Given the description of an element on the screen output the (x, y) to click on. 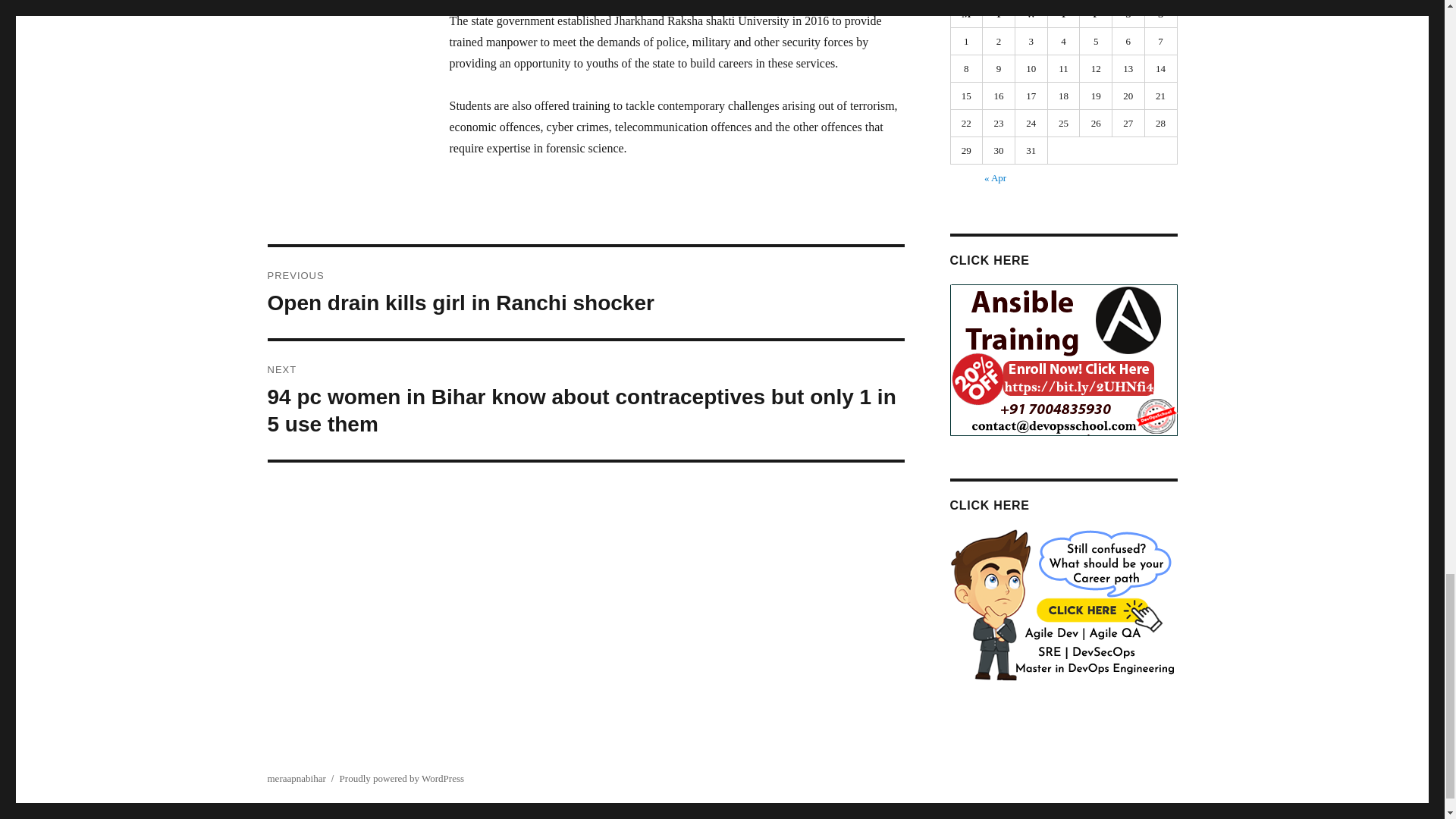
Thursday (1064, 13)
Tuesday (998, 13)
Sunday (1160, 13)
Friday (1096, 13)
Saturday (1128, 13)
Monday (967, 13)
Wednesday (1031, 13)
